Given the description of an element on the screen output the (x, y) to click on. 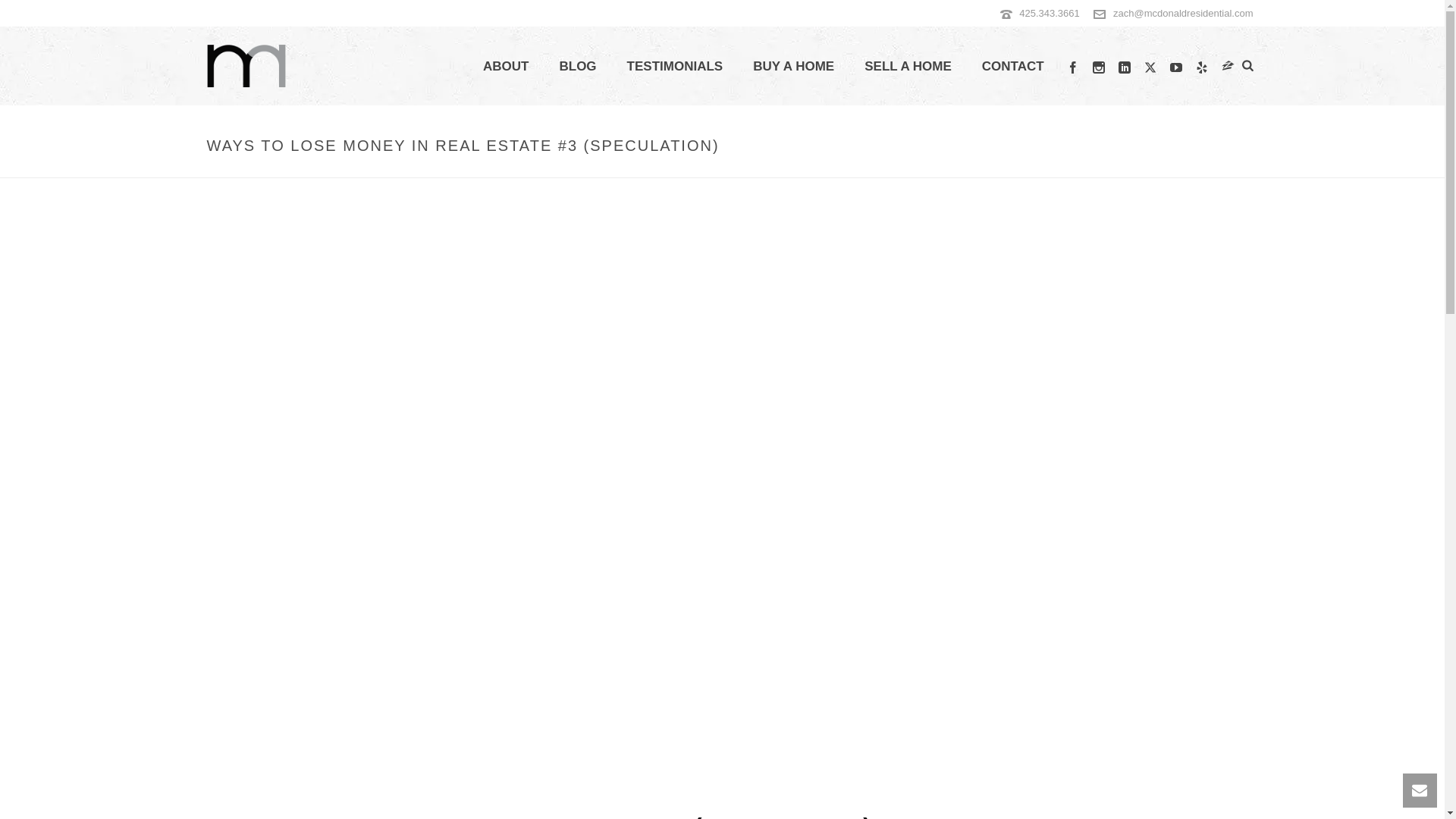
BUY A HOME (793, 66)
SELL A HOME (907, 66)
SELL A HOME (907, 66)
BLOG (577, 66)
Helping People Like You Buy and Sell Real Estate (245, 65)
BUY A HOME (793, 66)
CONTACT (1012, 66)
425.343.3661 (1049, 12)
ABOUT (505, 66)
ABOUT (505, 66)
TESTIMONIALS (674, 66)
TESTIMONIALS (674, 66)
CONTACT (1012, 66)
BLOG (577, 66)
